Given the description of an element on the screen output the (x, y) to click on. 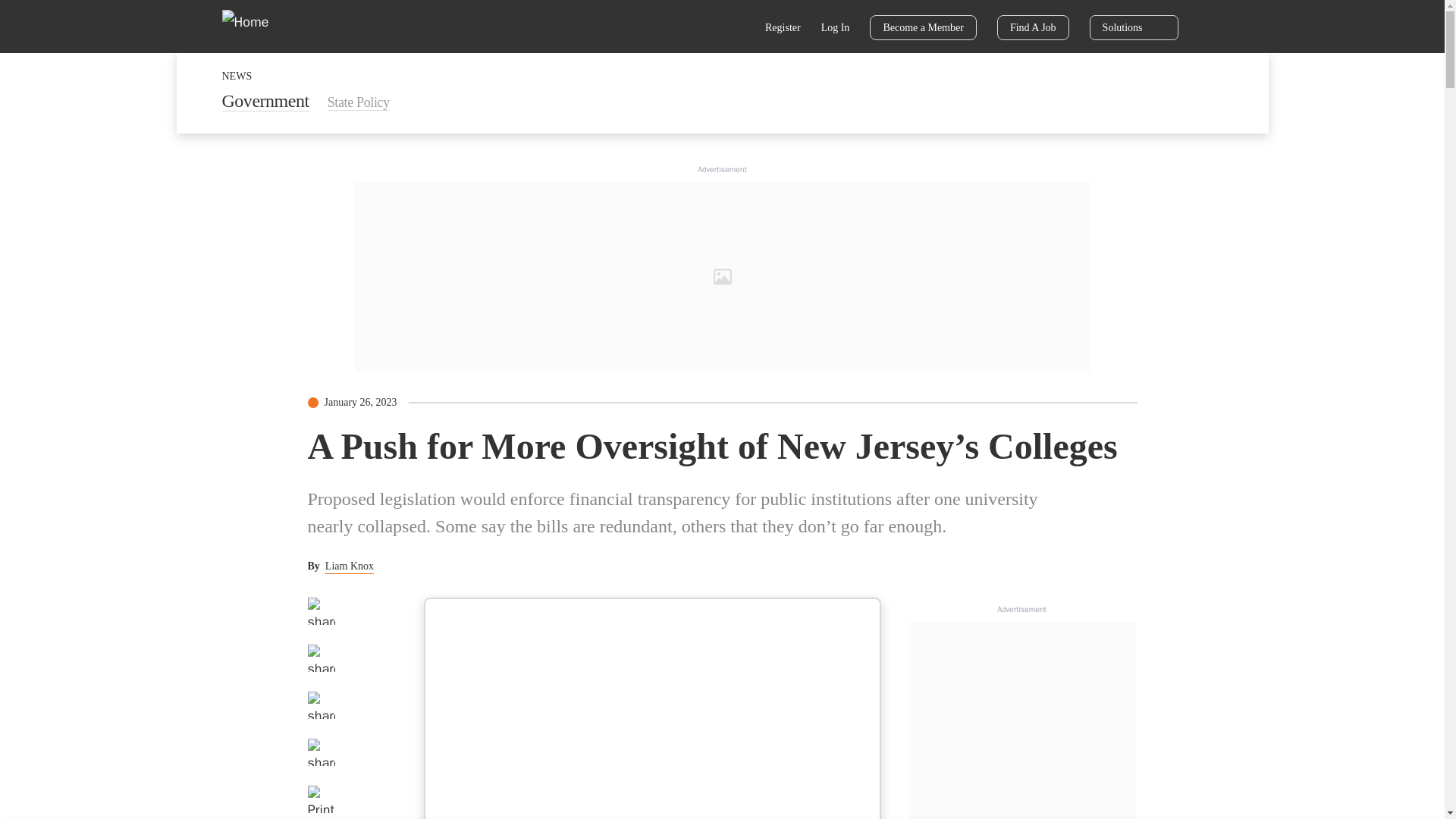
Home (255, 26)
Become a Member (922, 27)
share to facebook (320, 610)
Find A Job (1032, 27)
share to twitter (320, 657)
share to Linkedin (320, 705)
share by email (320, 751)
Search (736, 28)
